Given the description of an element on the screen output the (x, y) to click on. 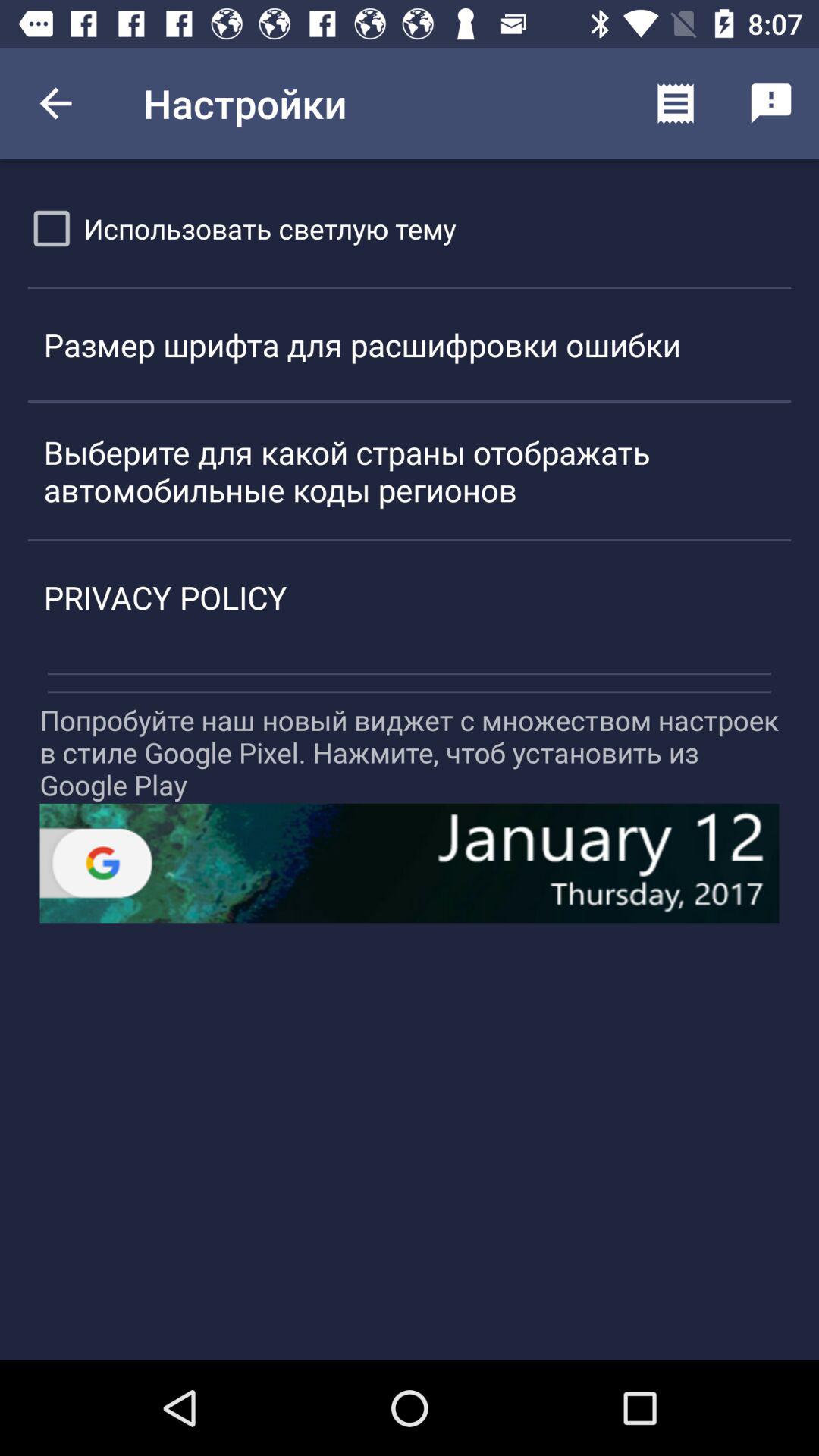
jump until the privacy policy icon (409, 596)
